Given the description of an element on the screen output the (x, y) to click on. 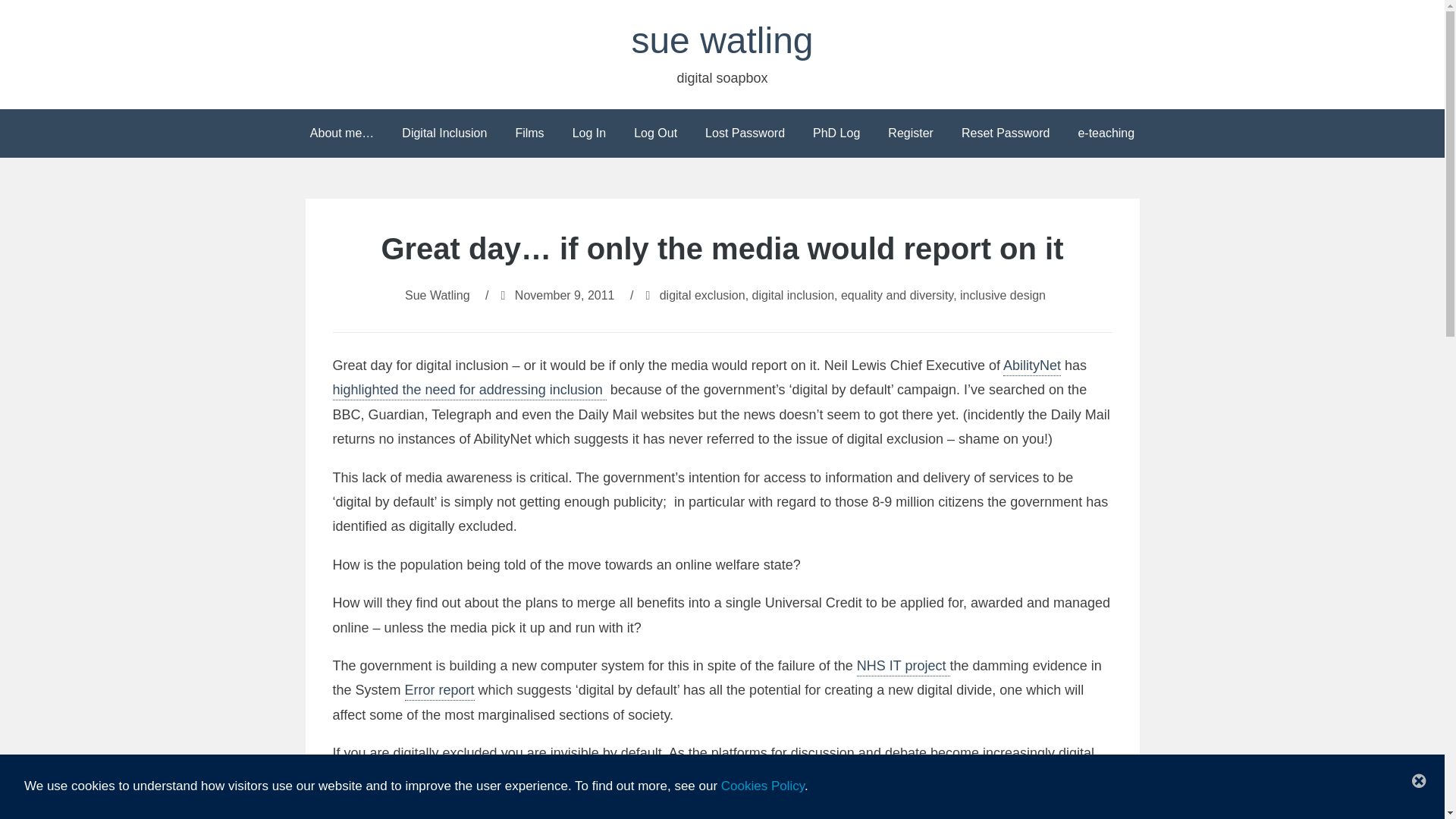
Lost Password (744, 133)
NHS IT project (903, 667)
Register (910, 133)
AbilityNet (1032, 366)
Films (529, 133)
sue watling (721, 40)
Error report (439, 691)
Digital Inclusion (444, 133)
Cookies Policy (762, 785)
November 9, 2011 (564, 295)
